Given the description of an element on the screen output the (x, y) to click on. 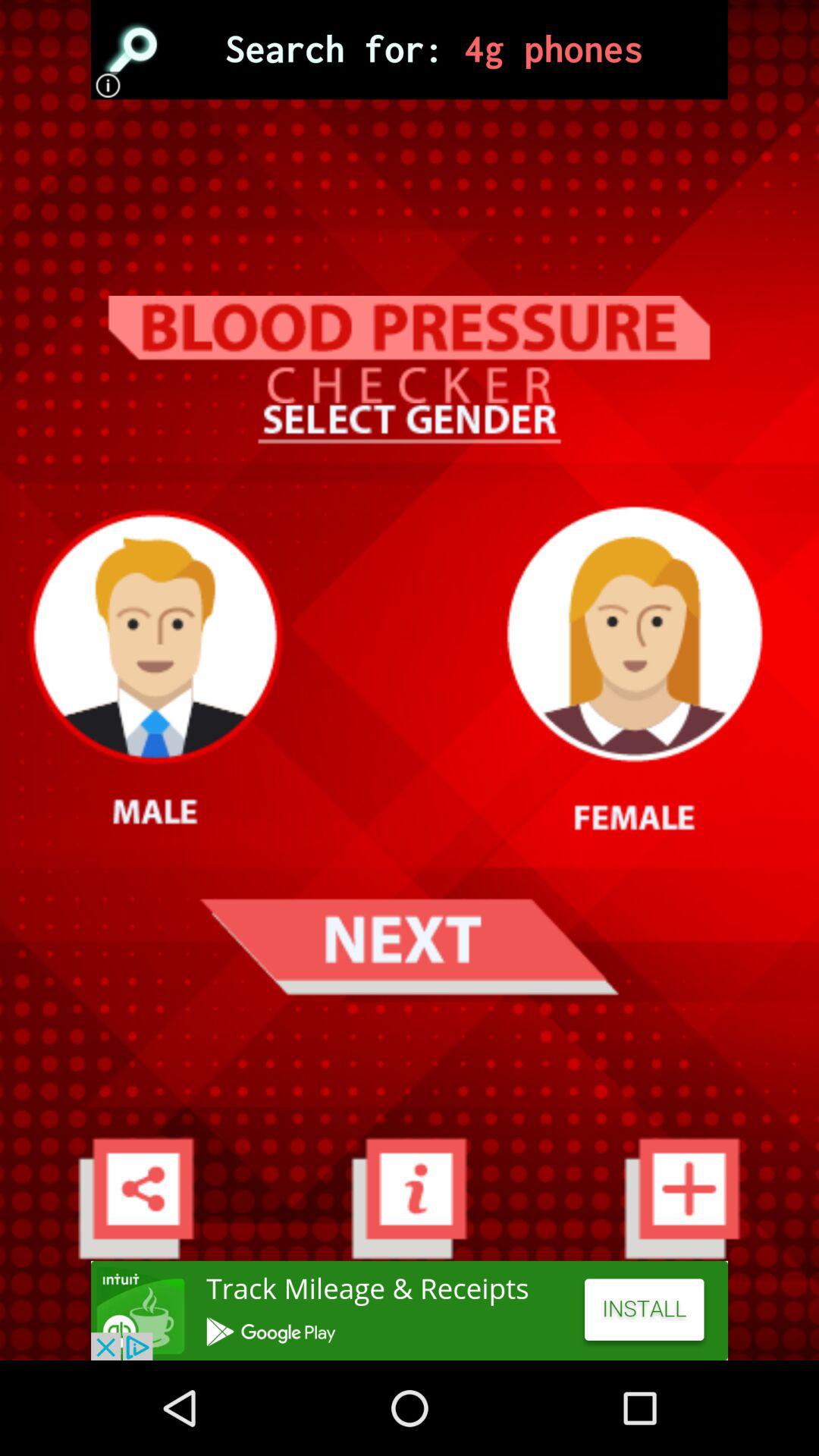
share button (135, 1197)
